Given the description of an element on the screen output the (x, y) to click on. 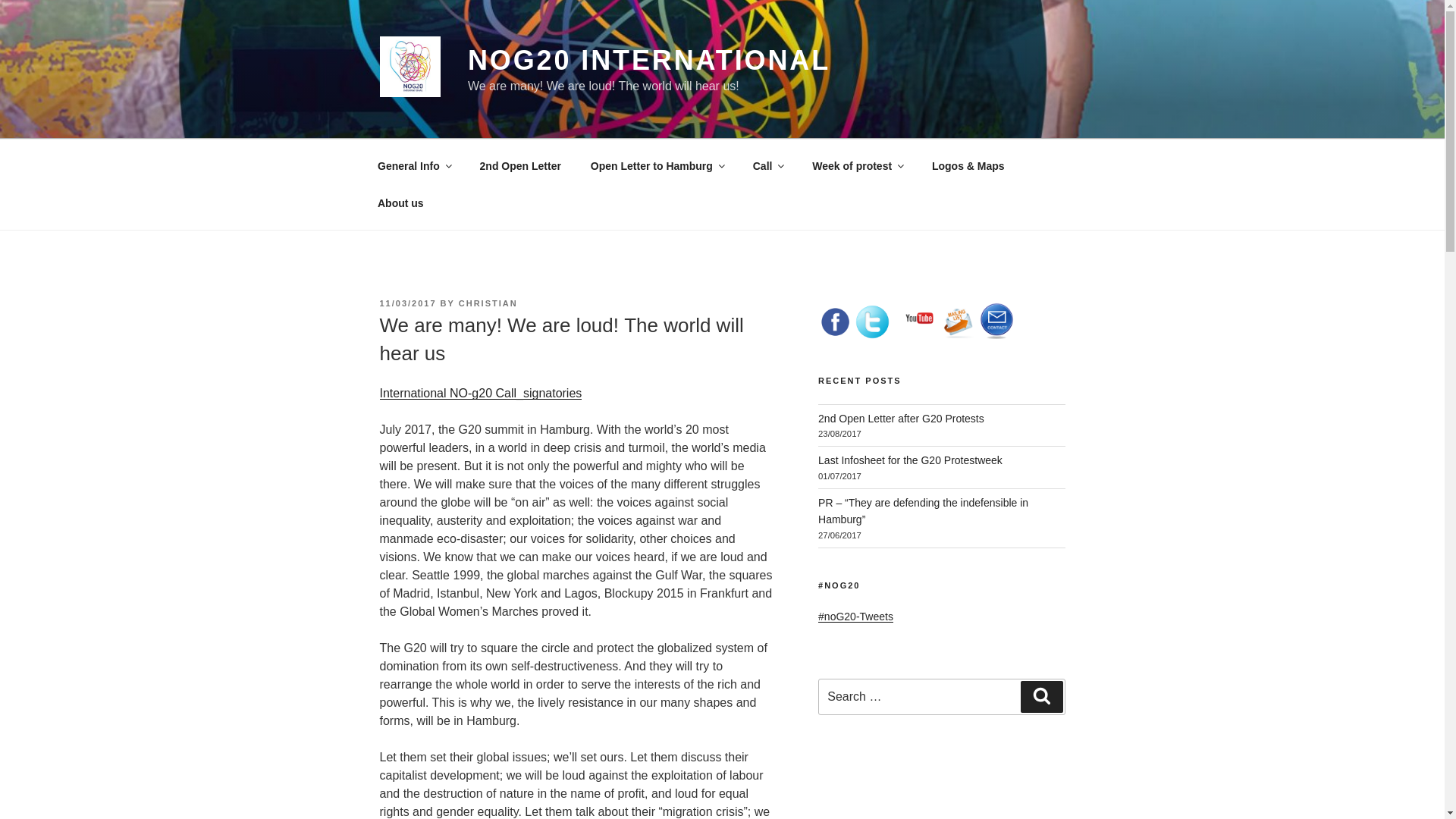
Call (767, 165)
General Info (413, 165)
Youtube (919, 318)
Mailinglist (959, 323)
Twitter (872, 321)
Contact (996, 320)
Facebook (834, 321)
Open Letter to Hamburg (656, 165)
NOG20 INTERNATIONAL (648, 60)
2nd Open Letter (519, 165)
